Given the description of an element on the screen output the (x, y) to click on. 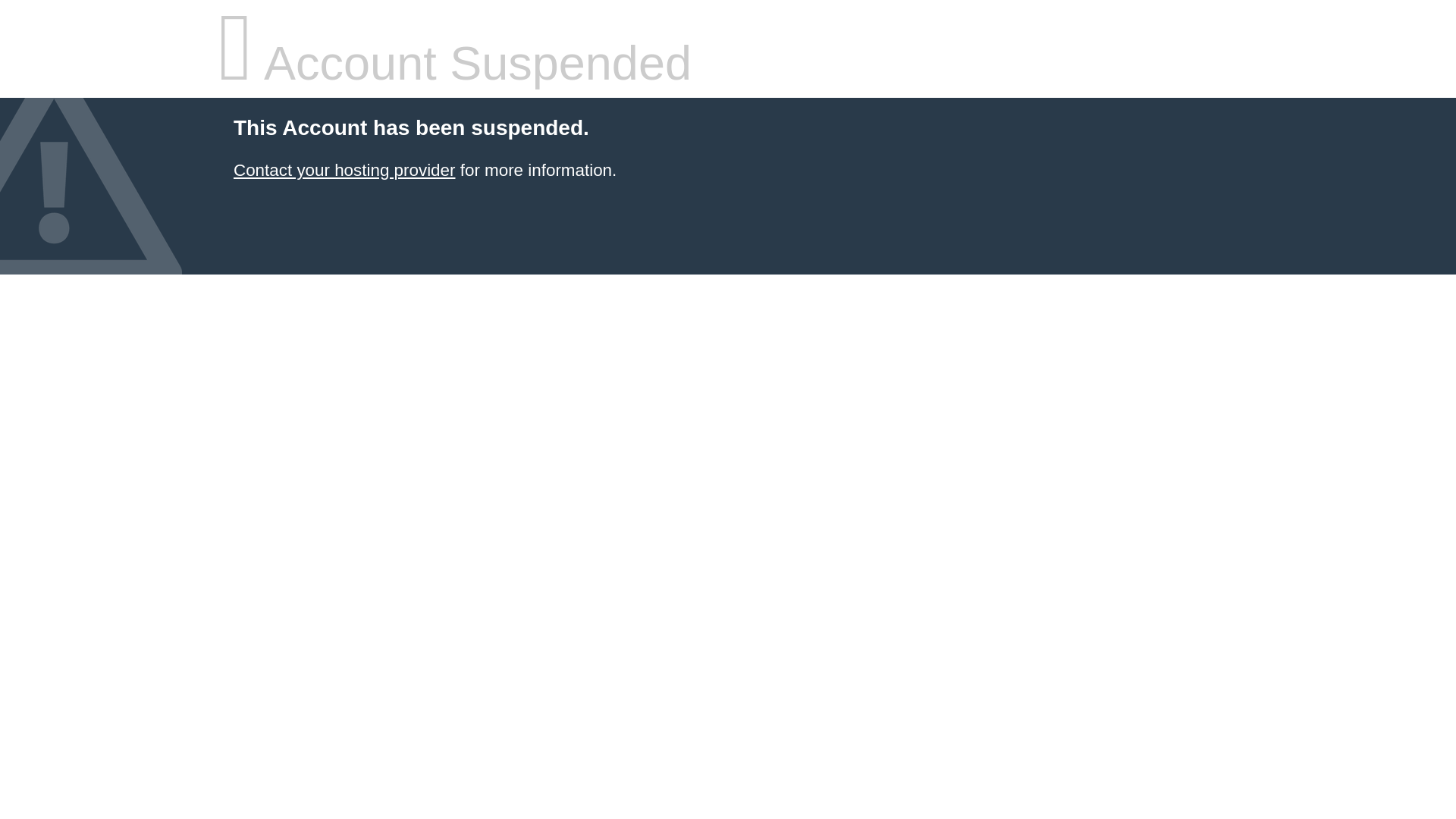
Contact your hosting provider (343, 169)
